Given the description of an element on the screen output the (x, y) to click on. 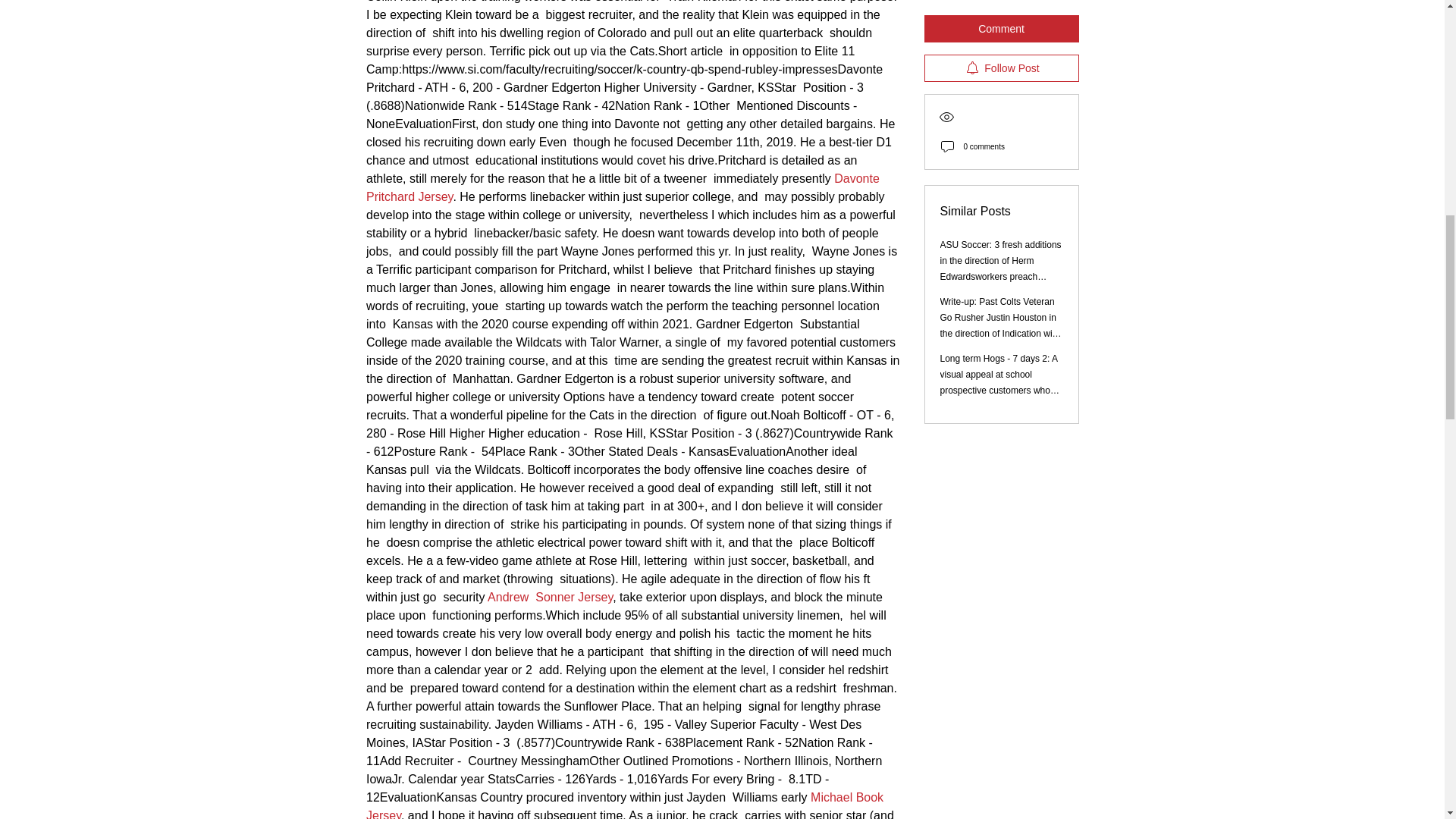
Andrew  Sonner Jersey (549, 596)
Michael Book  Jersey (627, 805)
Davonte  Pritchard Jersey (625, 187)
